Given the description of an element on the screen output the (x, y) to click on. 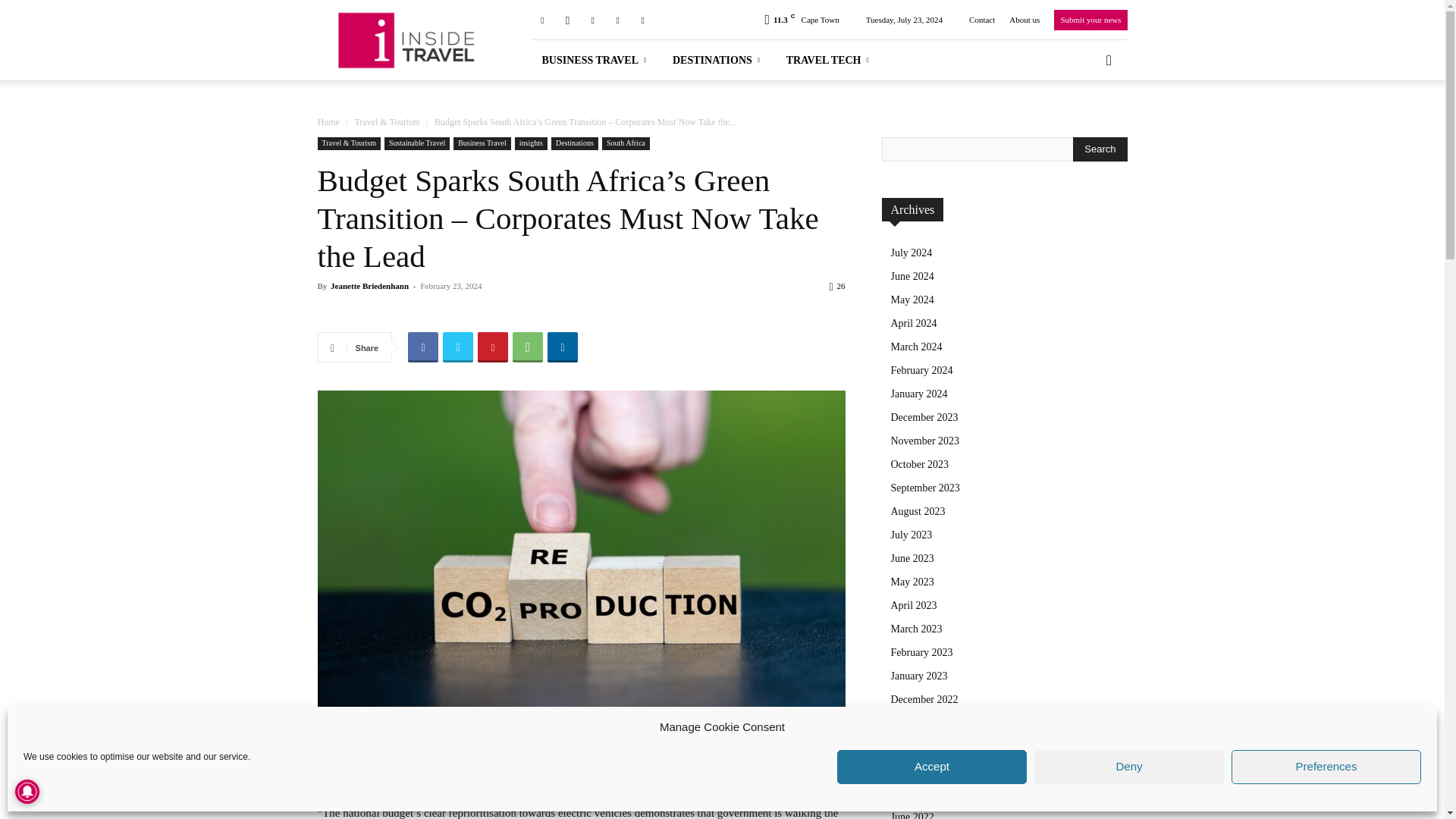
About us (1024, 19)
Contact (981, 19)
Search (1099, 149)
Instagram (567, 19)
Twitter (617, 19)
Facebook (542, 19)
Youtube (642, 19)
Inside Travel (407, 40)
Linkedin (592, 19)
